Given the description of an element on the screen output the (x, y) to click on. 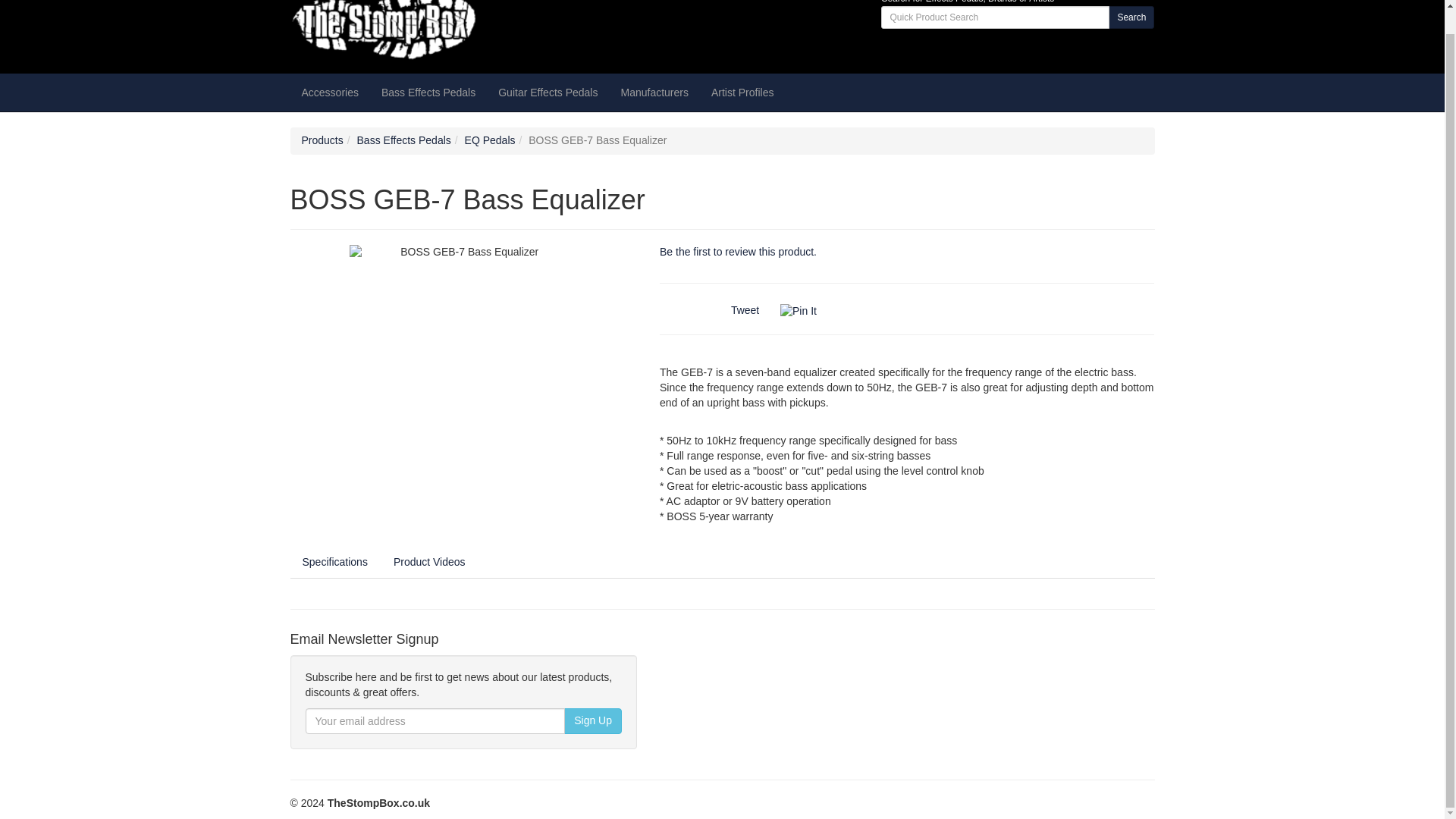
Pin It (798, 311)
Guitar Effects Pedals (547, 92)
Search (1131, 16)
TheStompBox.co.uk Homepage (425, 31)
Guitar Effects Pedals (547, 92)
Sign Up (592, 720)
Bass Effects Pedals (427, 92)
Accessories (329, 92)
Bass Effects Pedals (427, 92)
Manufacturers (653, 92)
Accessories (329, 92)
Artist Profiles (742, 92)
Search (1131, 16)
